Given the description of an element on the screen output the (x, y) to click on. 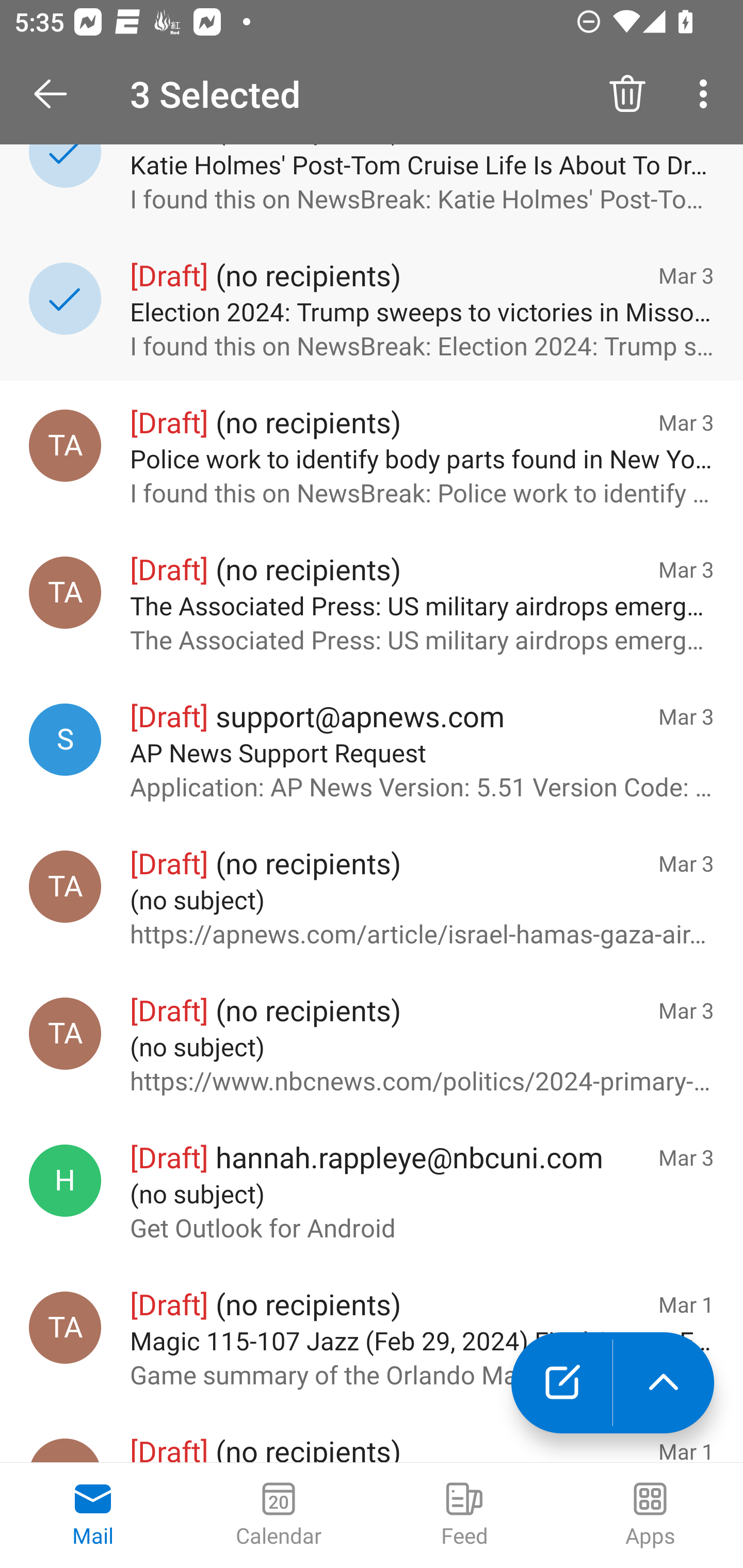
Delete (626, 93)
More options (706, 93)
Open Navigation Drawer (57, 94)
Test Appium, testappium002@outlook.com (64, 445)
Test Appium, testappium002@outlook.com (64, 592)
support@apnews.com (64, 740)
Test Appium, testappium002@outlook.com (64, 885)
Test Appium, testappium002@outlook.com (64, 1033)
hannah.rappleye@nbcuni.com (64, 1180)
Test Appium, testappium002@outlook.com (64, 1328)
New mail (561, 1382)
launch the extended action menu (663, 1382)
Calendar (278, 1515)
Feed (464, 1515)
Apps (650, 1515)
